Given the description of an element on the screen output the (x, y) to click on. 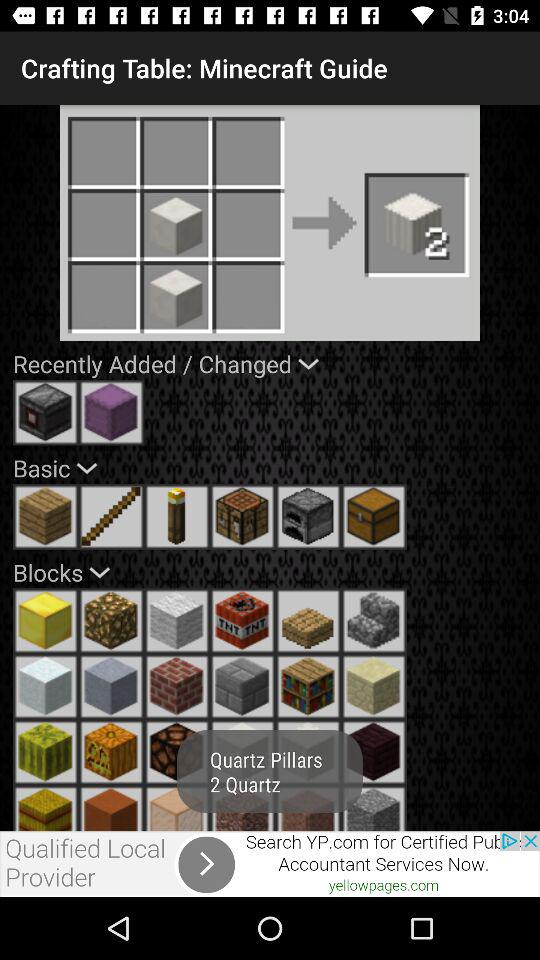
choose option (308, 752)
